Given the description of an element on the screen output the (x, y) to click on. 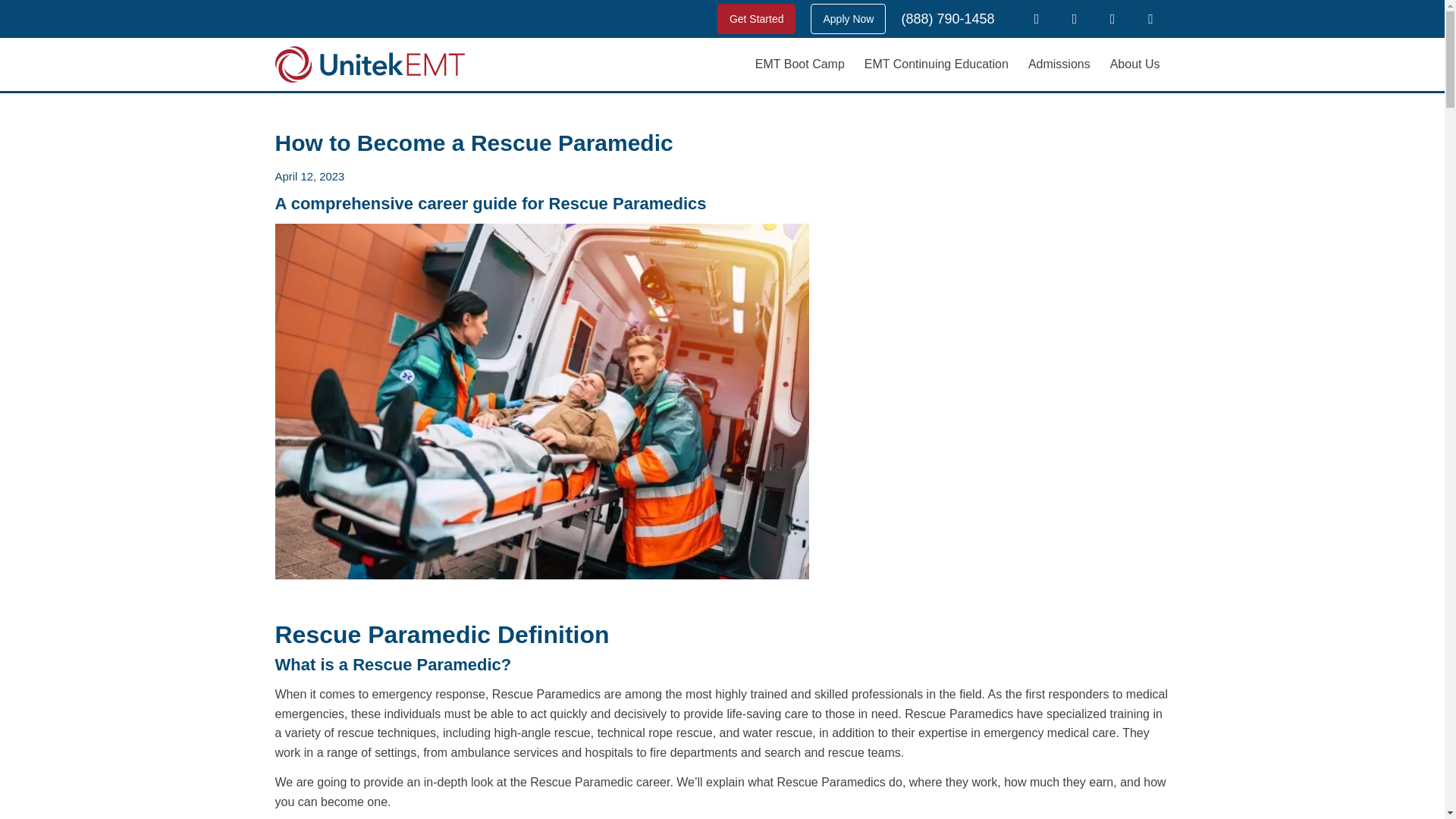
Apply Now (847, 19)
EMT Boot Camp (799, 63)
EMT Continuing Education (935, 63)
Instagram (1112, 18)
unitek-emt-logo (369, 63)
TikTok (1150, 18)
LinkedIn (1074, 18)
Facebook (1035, 18)
Get Started (756, 19)
About Us (1135, 63)
Admissions (1058, 63)
